Given the description of an element on the screen output the (x, y) to click on. 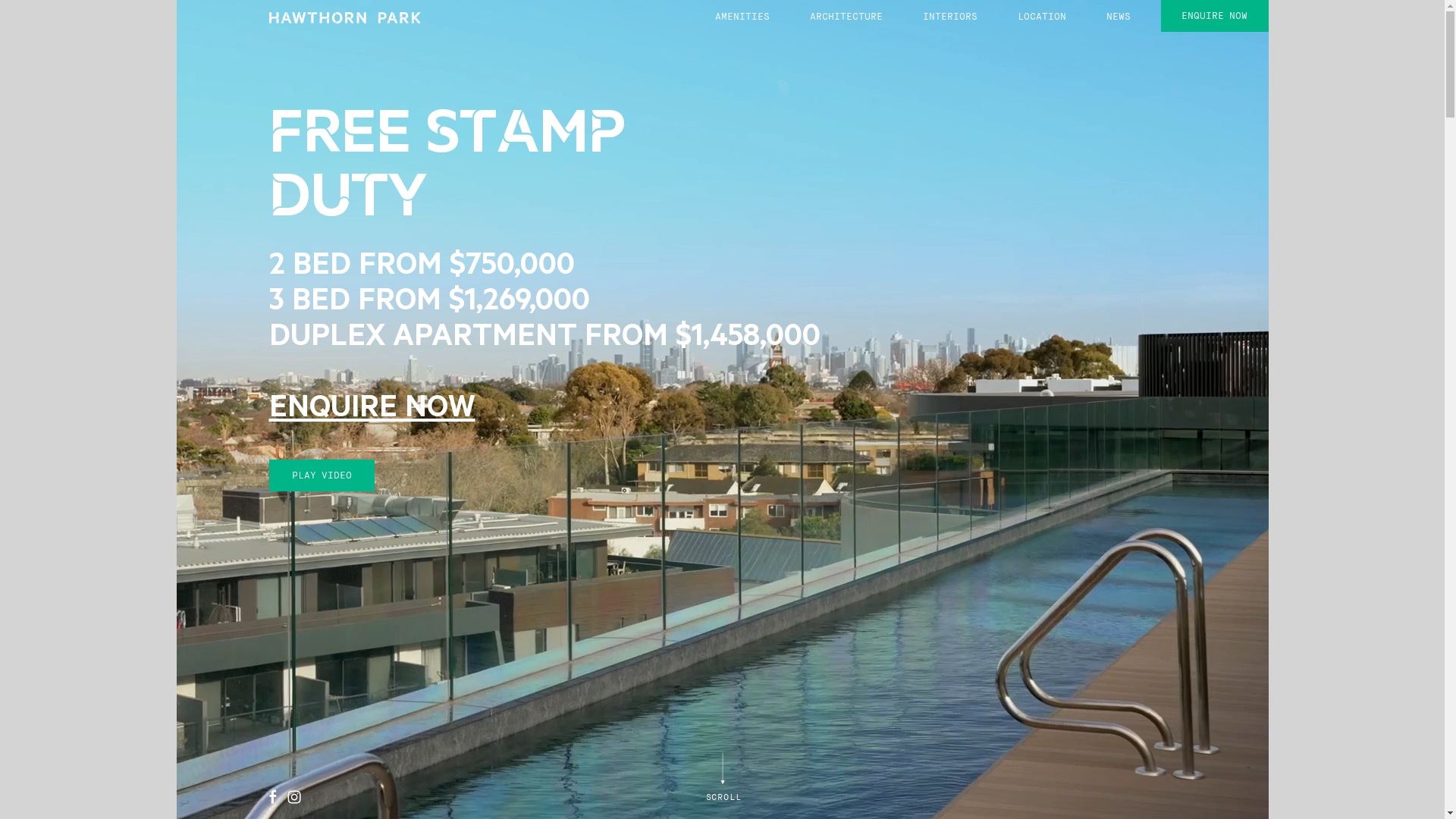
INTERIORS Element type: text (949, 16)
ENQUIRE NOW Element type: text (1213, 15)
AMENITIES Element type: text (742, 16)
LOCATION Element type: text (1041, 16)
ENQUIRE NOW Element type: text (371, 411)
NEWS Element type: text (1118, 16)
ARCHITECTURE Element type: text (845, 16)
PLAY VIDEO Element type: text (320, 475)
